Given the description of an element on the screen output the (x, y) to click on. 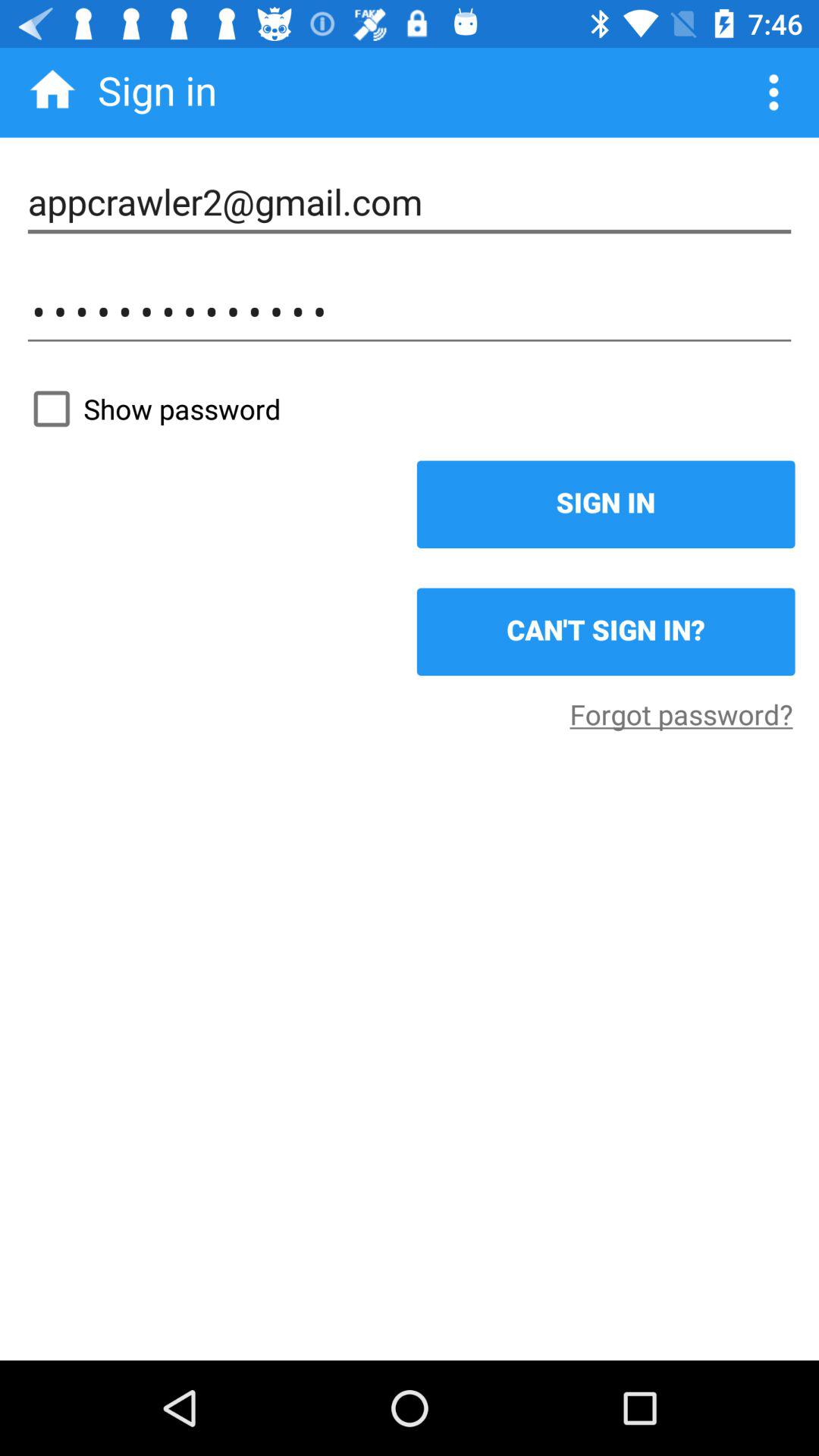
scroll until appcrawler3116 item (409, 312)
